Given the description of an element on the screen output the (x, y) to click on. 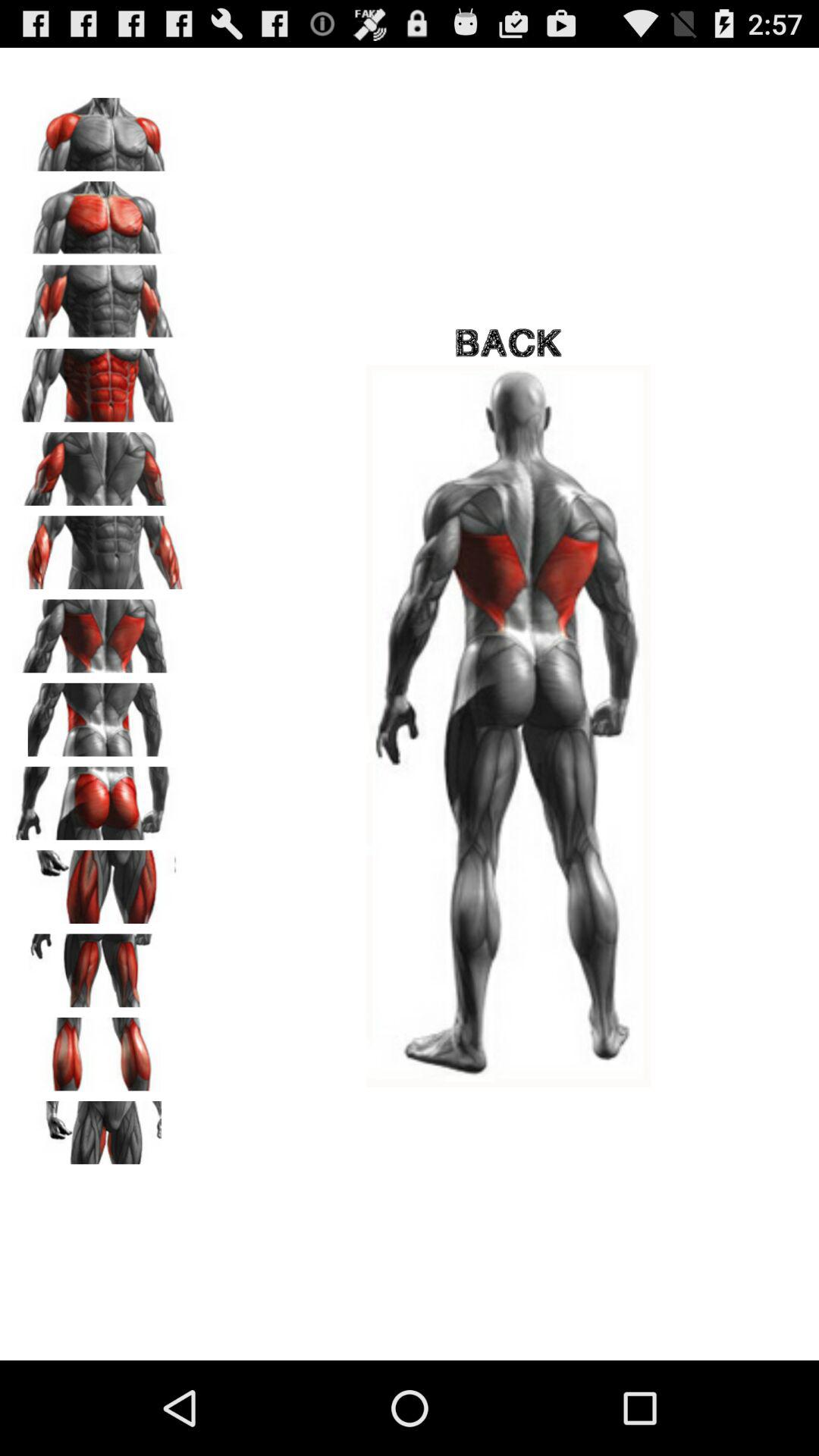
coast (99, 463)
